Given the description of an element on the screen output the (x, y) to click on. 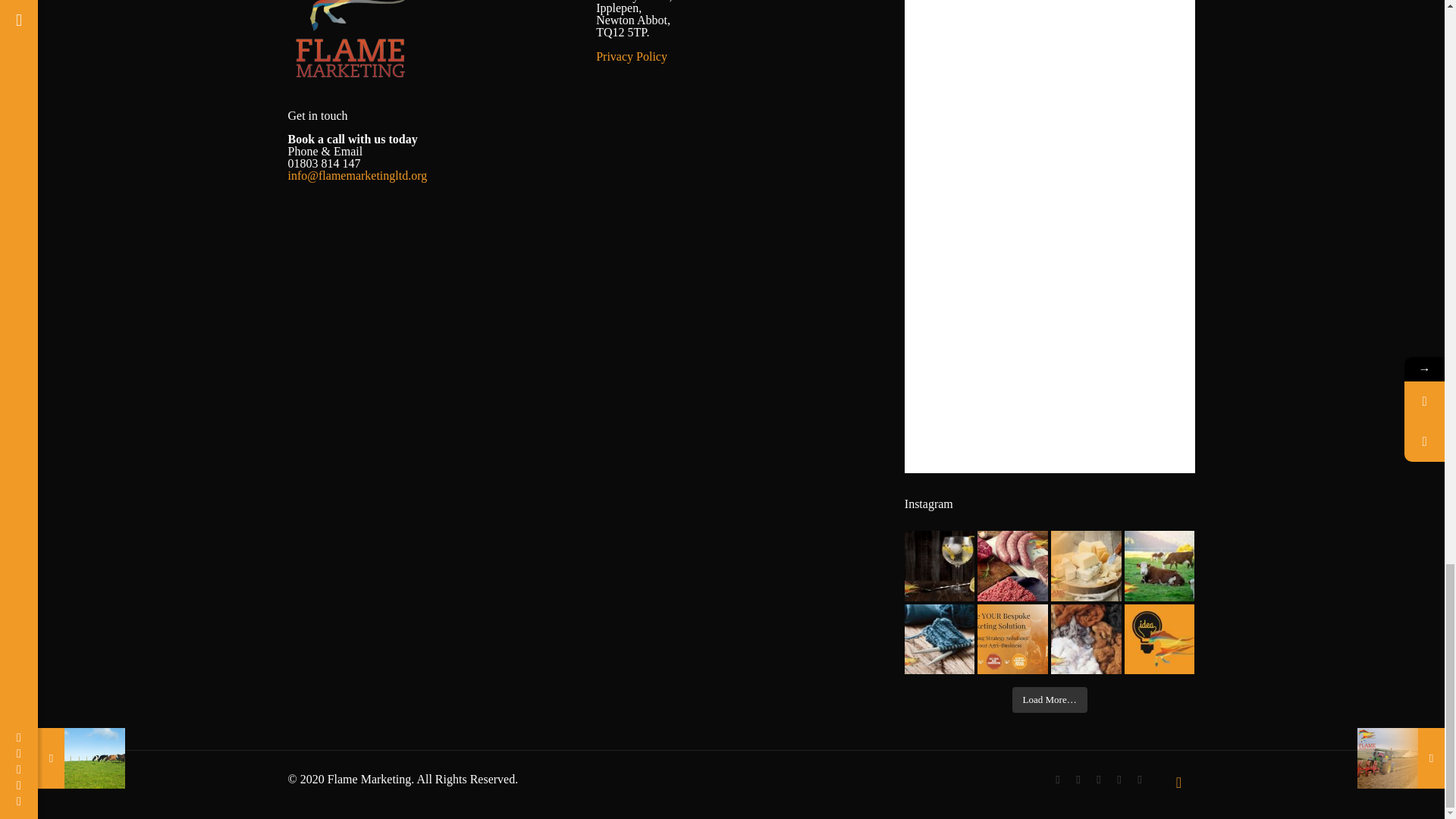
Twitter (1078, 779)
YouTube (1098, 779)
Facebook (1057, 779)
